Given the description of an element on the screen output the (x, y) to click on. 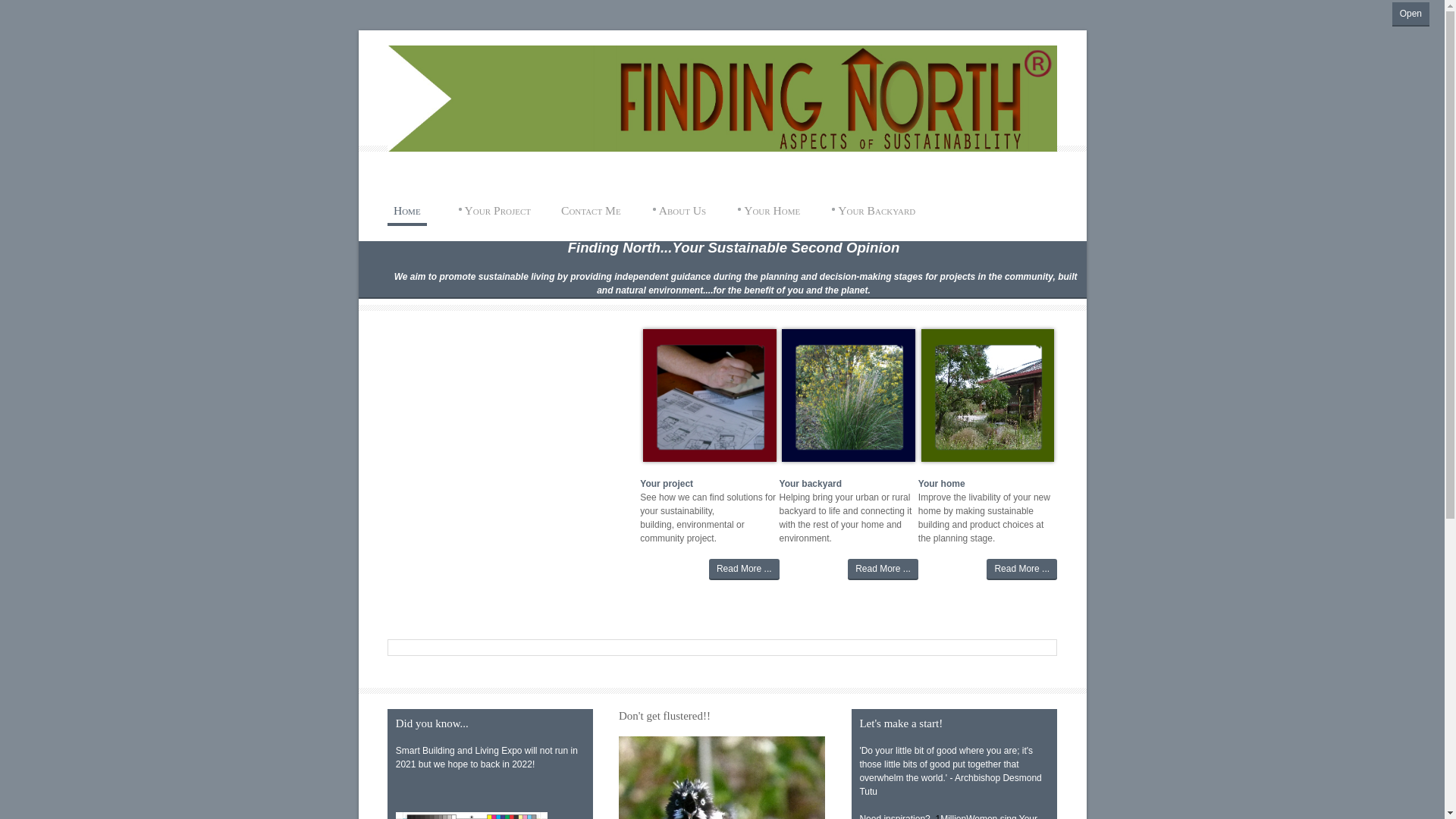
Your home Element type: text (941, 483)
Home Element type: text (406, 214)
Contact Me Element type: text (591, 210)
Your project Element type: text (666, 483)
Open Element type: text (1410, 13)
Your backyard Element type: text (810, 483)
